Given the description of an element on the screen output the (x, y) to click on. 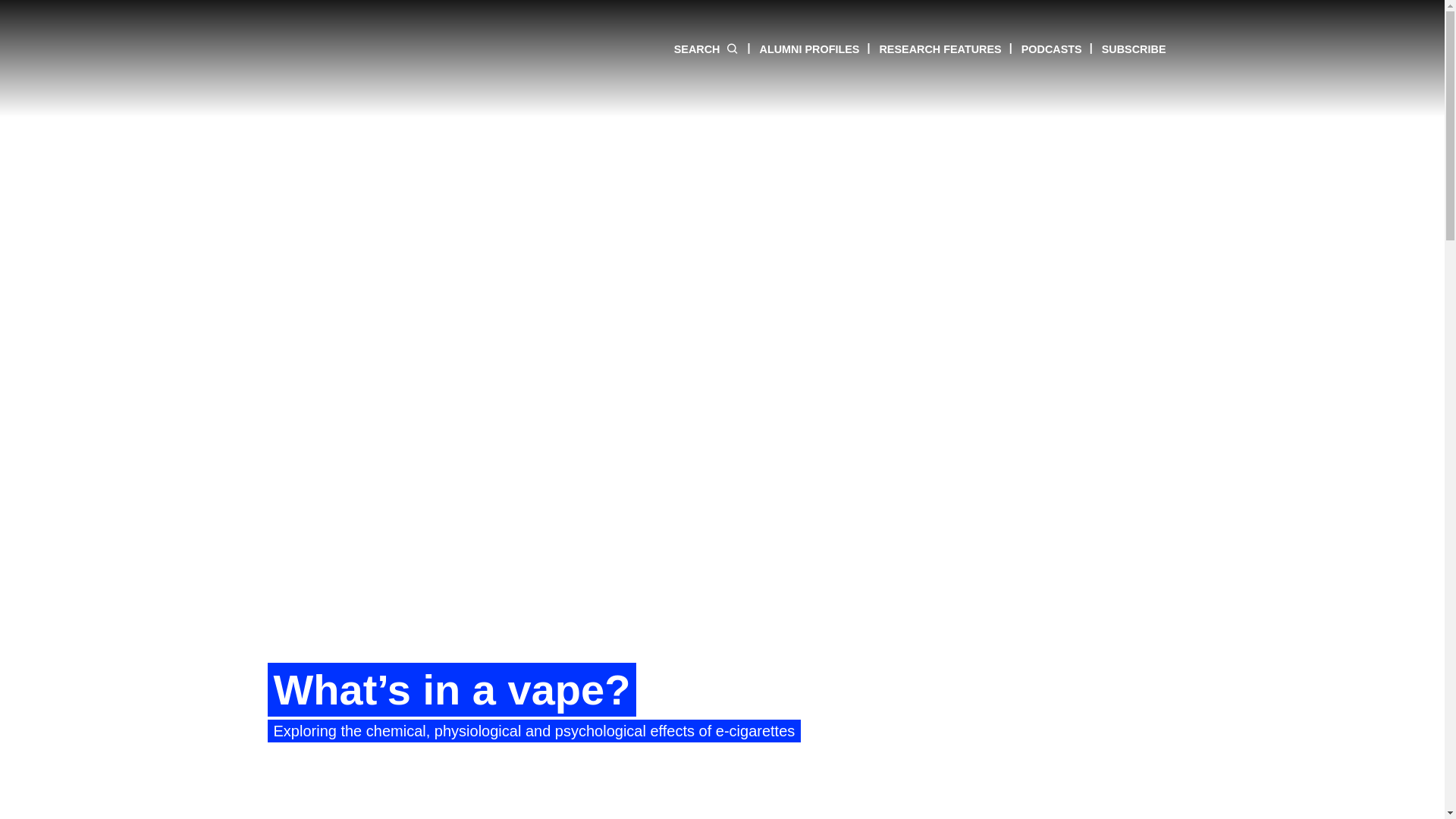
ALUMNI PROFILES (799, 48)
SEARCH (706, 48)
PODCASTS (1041, 48)
RESEARCH FEATURES (930, 48)
SUBSCRIBE (1123, 48)
